Given the description of an element on the screen output the (x, y) to click on. 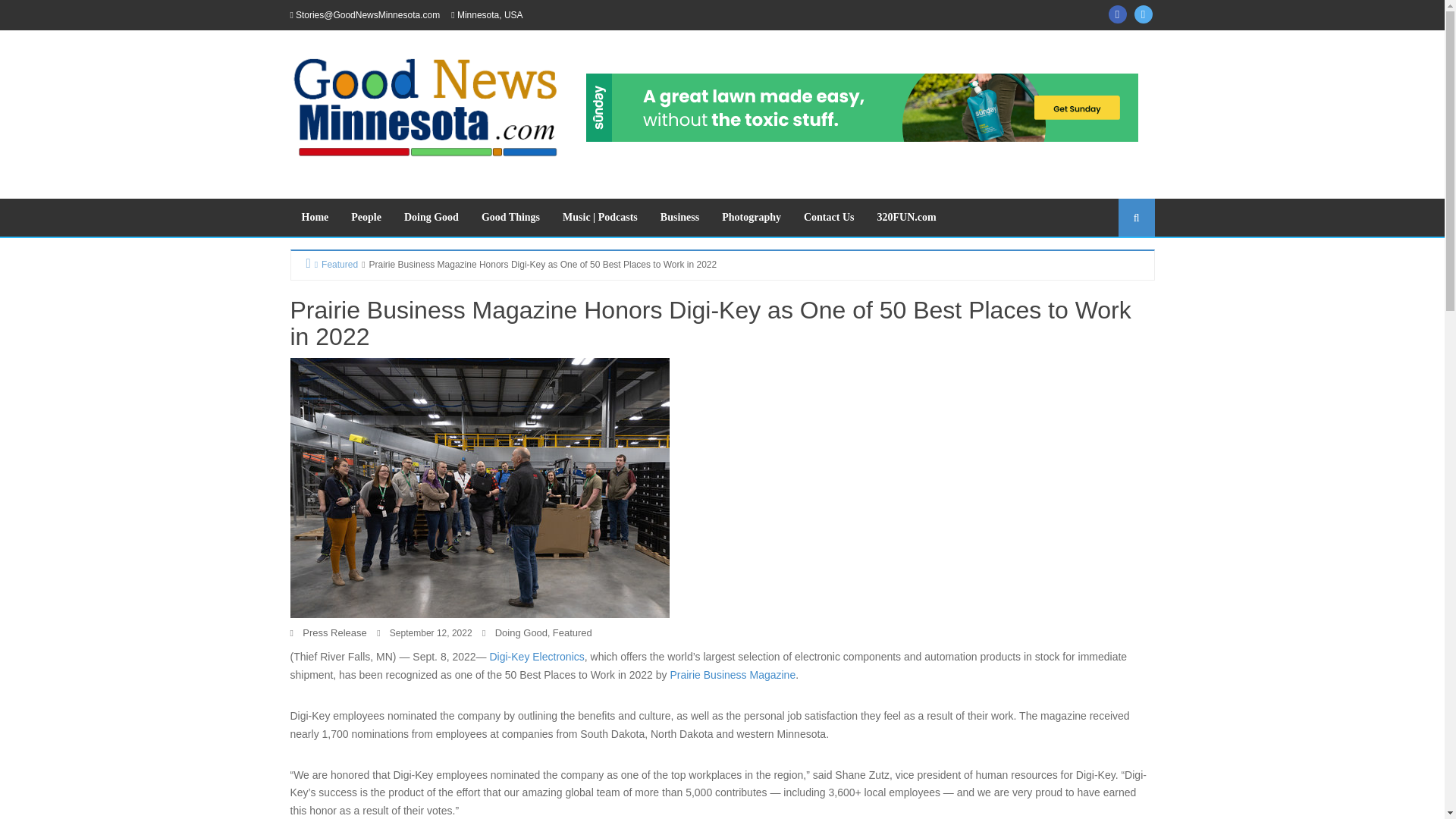
Doing Good (431, 217)
Monday, September 12, 2022, 8:26 am (430, 633)
320FUN.com (905, 217)
Home (314, 217)
Contact Us (829, 217)
Photography (751, 217)
People (366, 217)
Twitter (1143, 13)
Good Things (510, 217)
Prairie Business Magazine (731, 674)
